Given the description of an element on the screen output the (x, y) to click on. 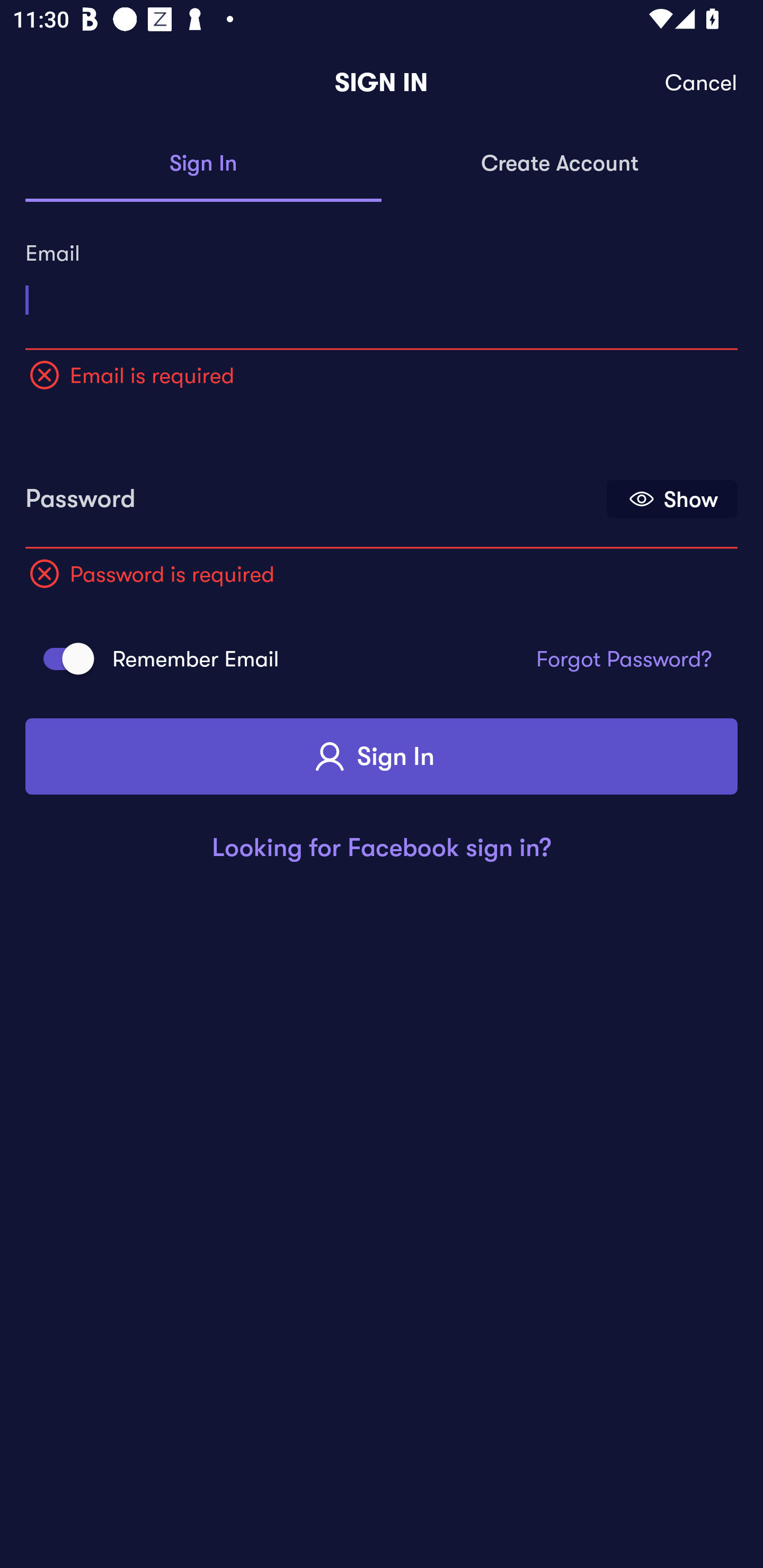
Cancel (701, 82)
Sign In (203, 164)
Create Account (559, 164)
Email, error message, Email is required (381, 293)
Password, error message, Password is required (314, 493)
Show Password Show (671, 498)
Remember Email (62, 658)
Sign In (381, 756)
